Given the description of an element on the screen output the (x, y) to click on. 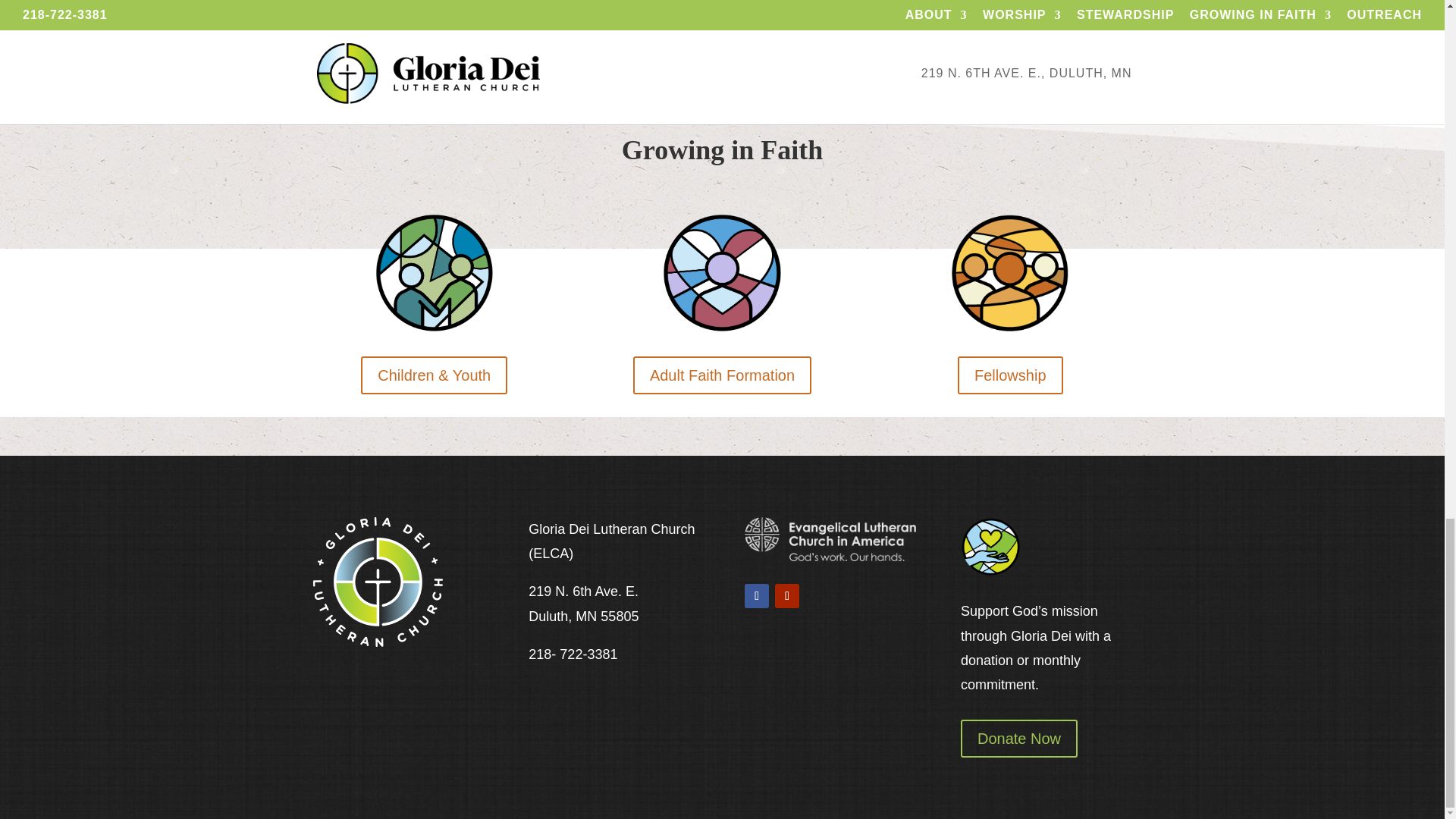
GloriaDei-Icons-36 (1009, 272)
ELCA-1Color-White (829, 538)
Follow on Youtube (786, 595)
Follow on Facebook (756, 595)
GloriaDei-WhiteBadge-New (377, 581)
GloriaDei-Icons-40 (990, 546)
